Given the description of an element on the screen output the (x, y) to click on. 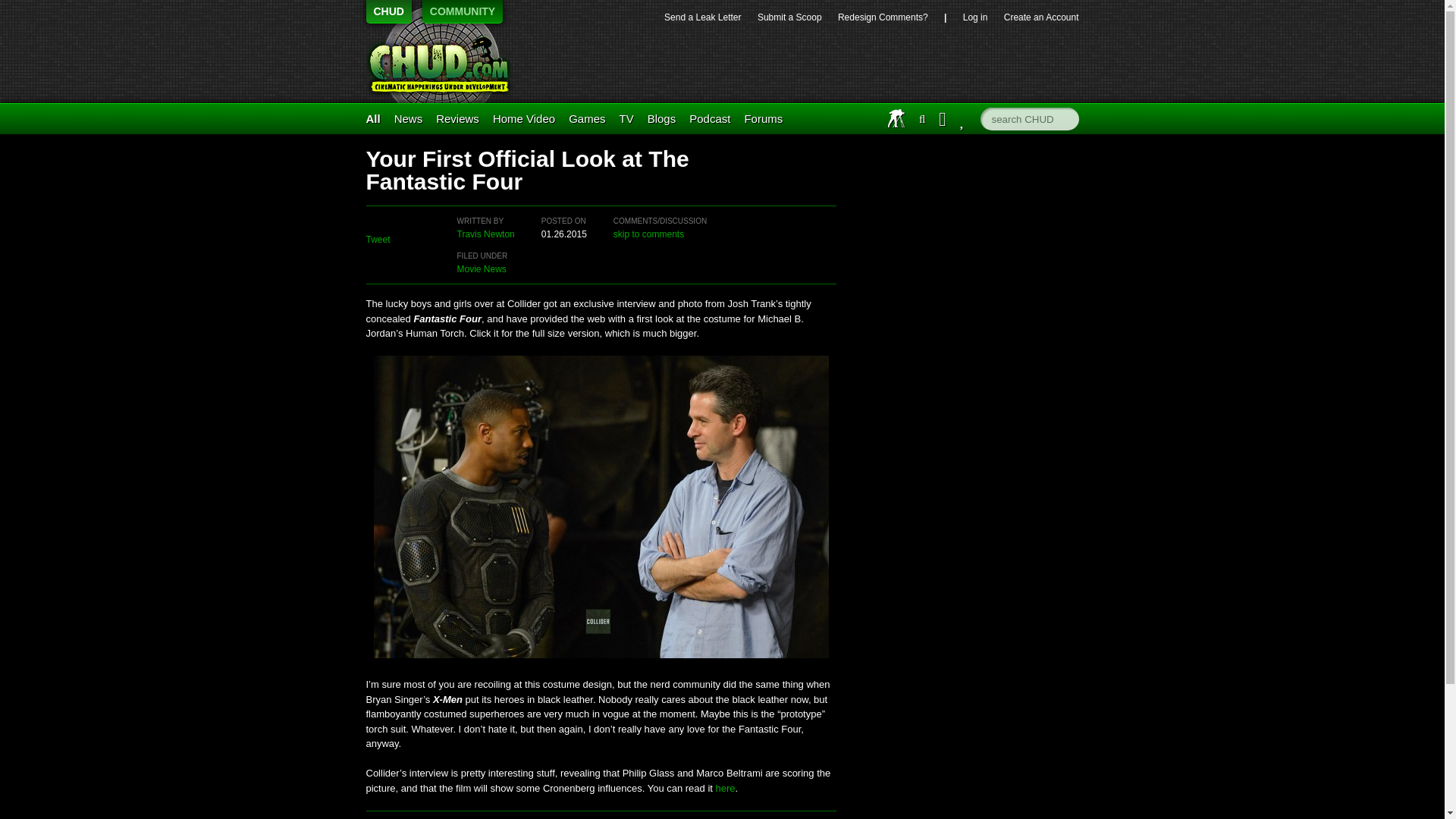
Podcast (709, 118)
Redesign Comments? (883, 17)
Home Video (523, 118)
Tweet (377, 239)
Create an Account (1041, 17)
Log in (975, 17)
Forums (763, 118)
Travis Newton (485, 234)
All (372, 118)
Games (587, 118)
Master Control Program (587, 118)
Send a Leak Letter (702, 17)
Reviews (457, 118)
skip to comments (648, 234)
Blogs (662, 118)
